Given the description of an element on the screen output the (x, y) to click on. 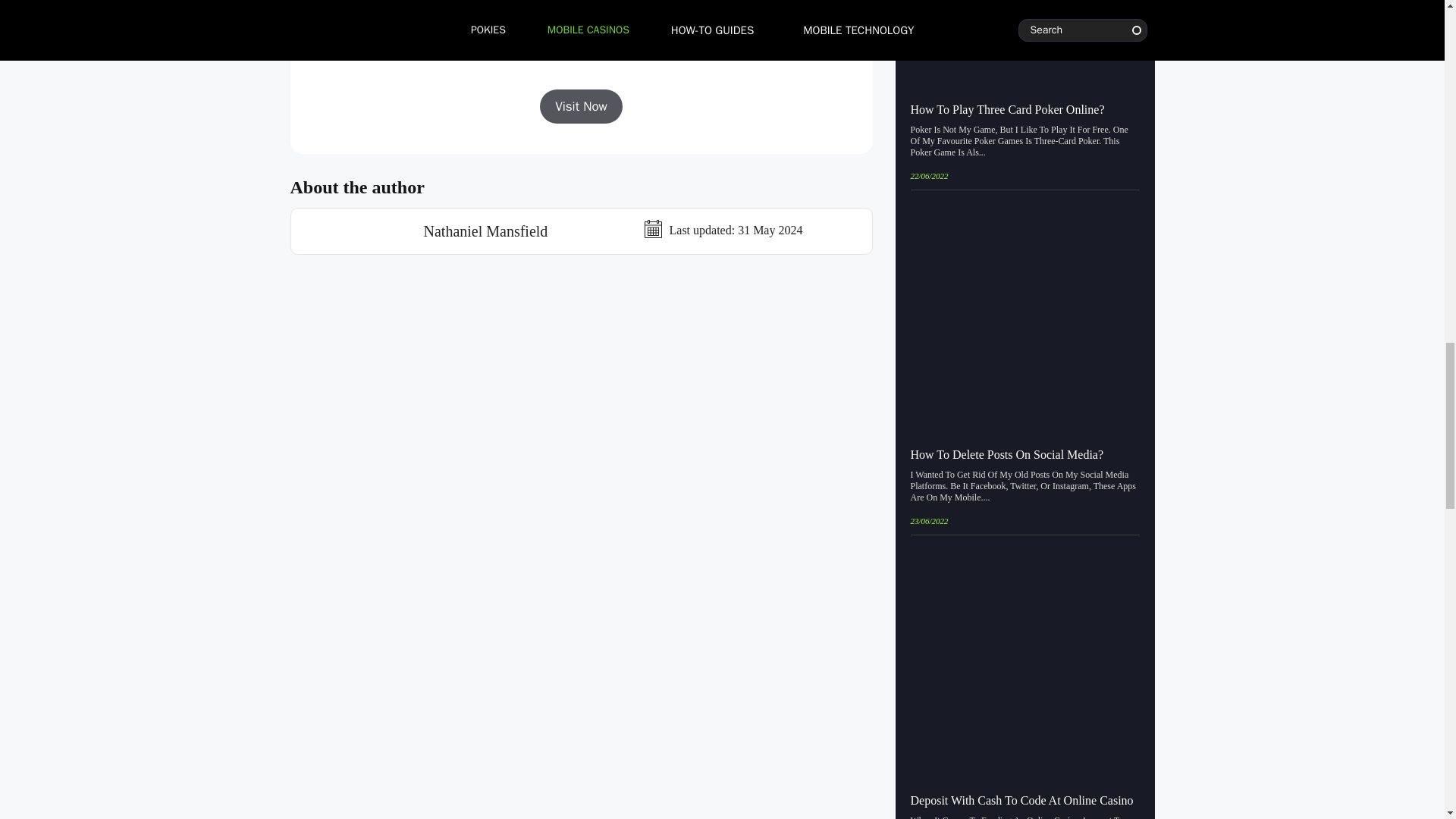
Visit Now (581, 106)
